Given the description of an element on the screen output the (x, y) to click on. 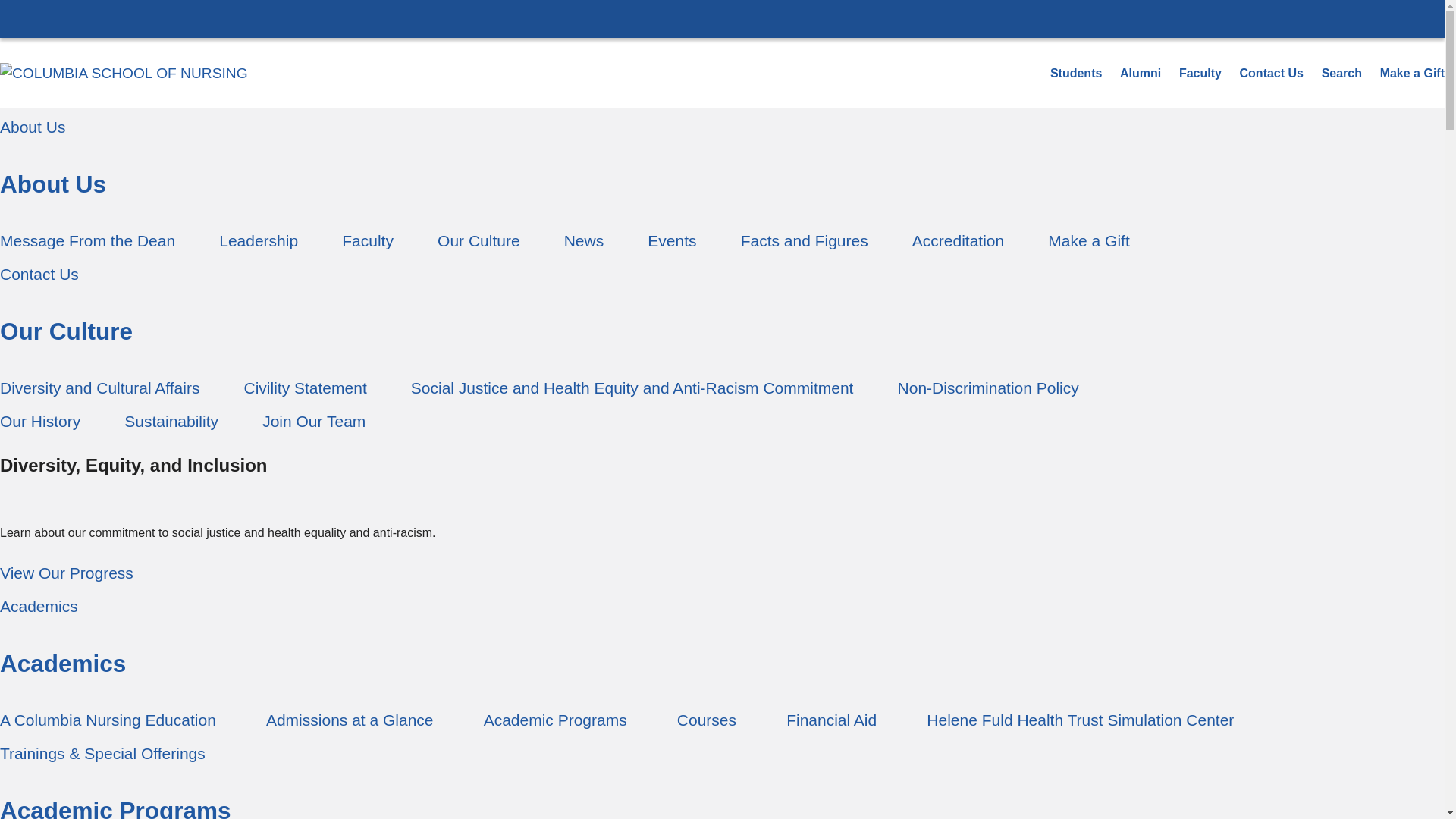
Make a Gift (1088, 238)
Our Culture (478, 238)
Our History (40, 419)
Our Culture (612, 328)
Academics (695, 604)
Columbia University Irving Medical Center (721, 17)
Academics (695, 661)
About Us (612, 182)
Diversity and Cultural Affairs (99, 385)
Students (1075, 72)
